Given the description of an element on the screen output the (x, y) to click on. 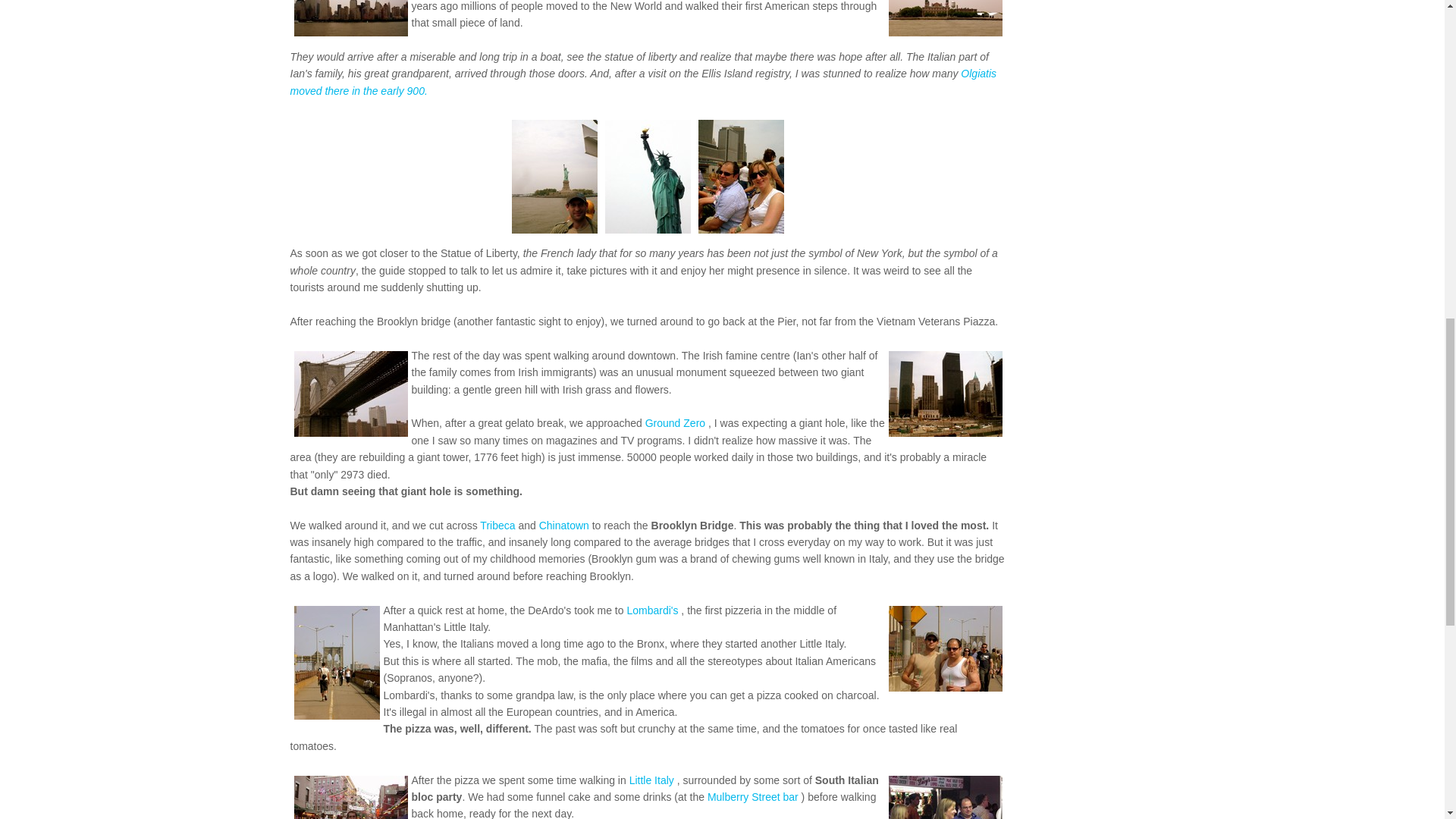
Olaf and Ian (945, 648)
Tribeca (497, 525)
Olaf in little Italy (350, 797)
Little Italy (651, 779)
Mulberry Street bar (752, 797)
The Brooklyn Bridge (350, 393)
Olgiatis moved there in the early 900. (642, 81)
Lombardi's (652, 610)
Ellis Island (945, 18)
New York Skyline (350, 18)
